Given the description of an element on the screen output the (x, y) to click on. 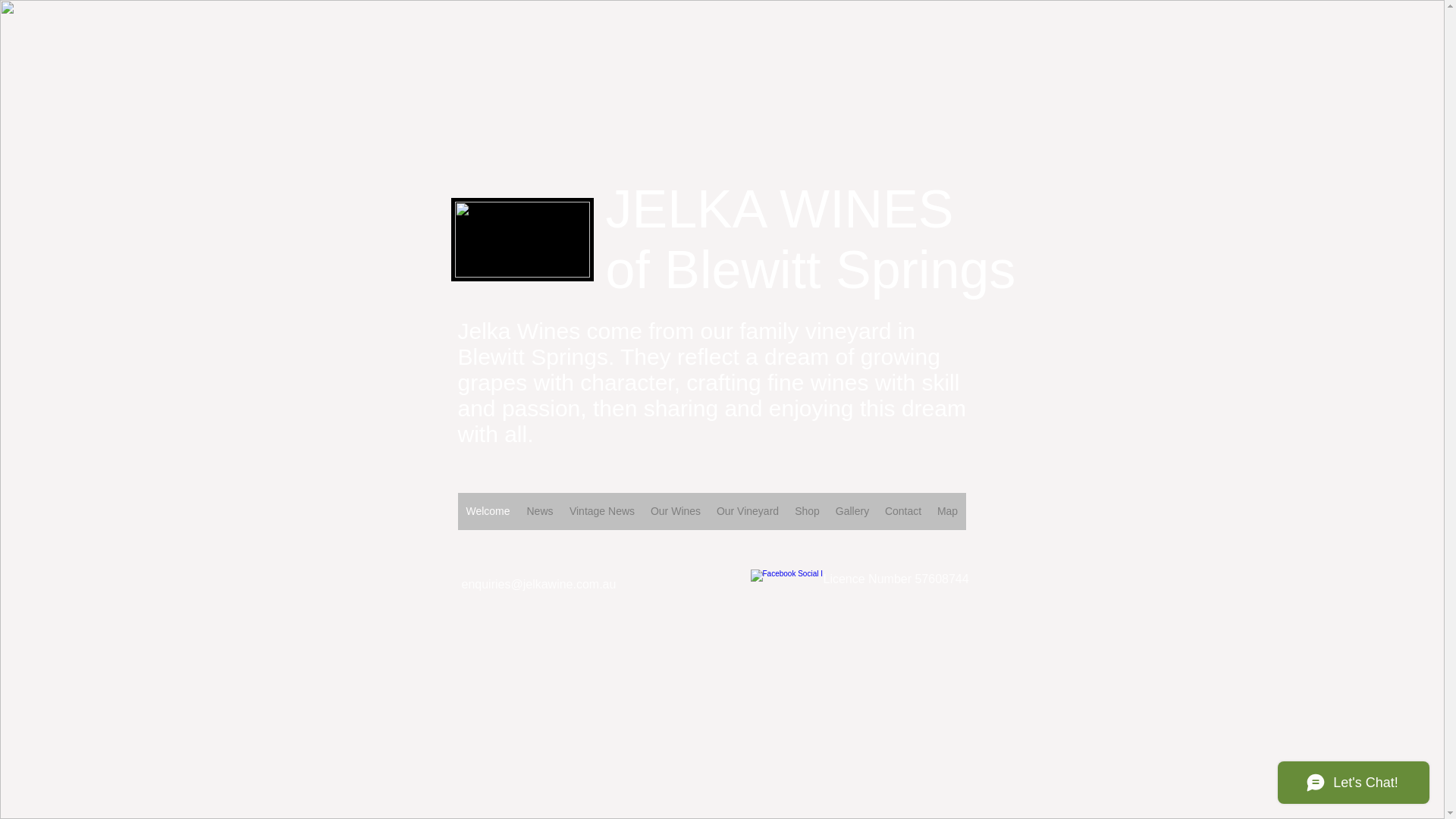
News Element type: text (539, 511)
Our Wines Element type: text (676, 511)
Contact Element type: text (902, 511)
Our Vineyard Element type: text (747, 511)
Vintage News Element type: text (601, 511)
Shop Element type: text (807, 511)
Map Element type: text (947, 511)
Gallery Element type: text (852, 511)
Welcome Element type: text (488, 511)
enquiries@jelkawine.com.au Element type: text (538, 583)
